Given the description of an element on the screen output the (x, y) to click on. 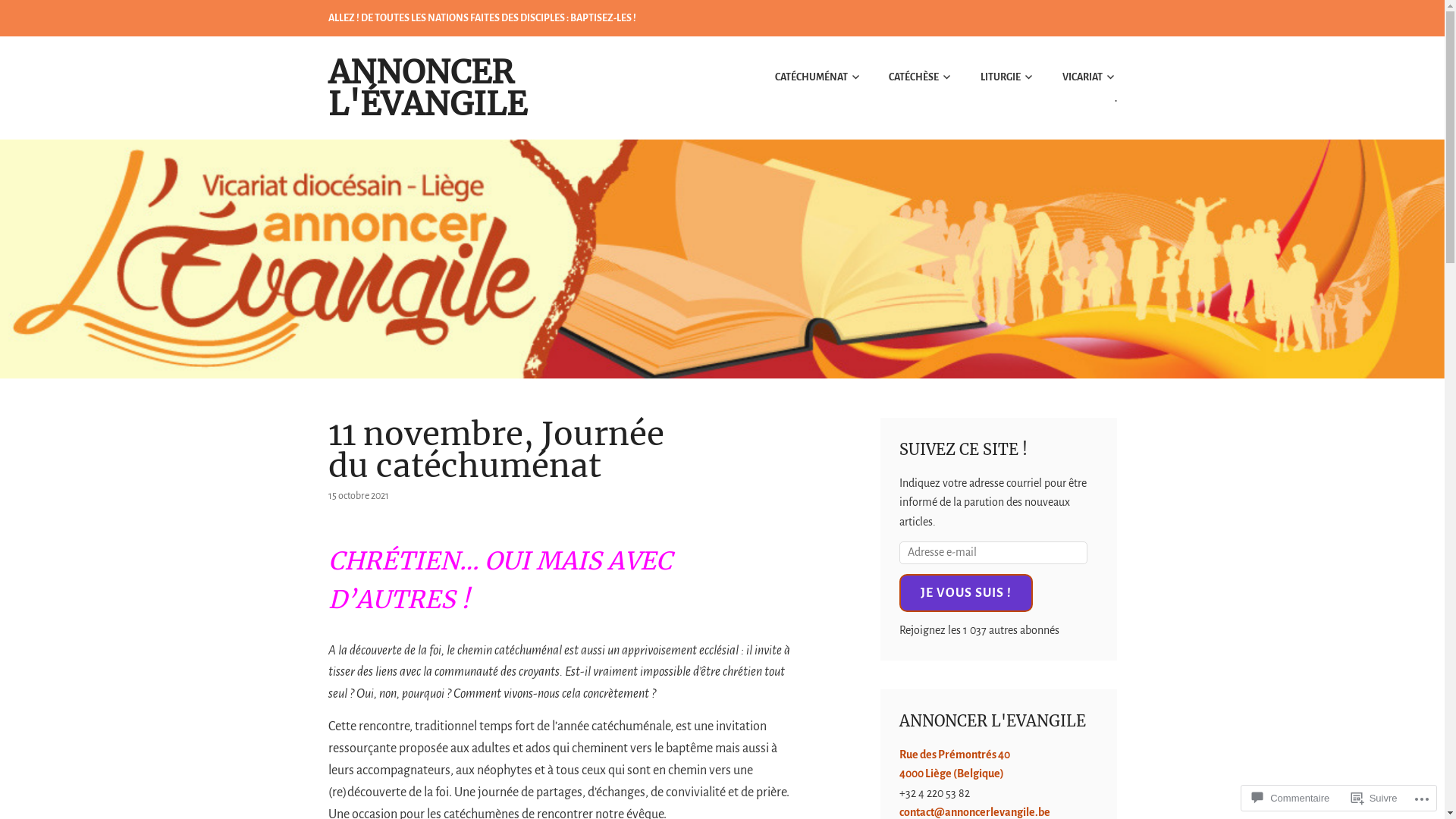
15 octobre 2021 Element type: text (357, 495)
Commentaire Element type: text (1290, 797)
Suivre Element type: text (1374, 797)
. Element type: text (1102, 98)
Rechercher Element type: text (58, 17)
LITURGIE Element type: text (994, 76)
VICARIAT Element type: text (1076, 76)
JE VOUS SUIS ! Element type: text (965, 592)
contact@annoncerlevangile.be Element type: text (974, 812)
